Given the description of an element on the screen output the (x, y) to click on. 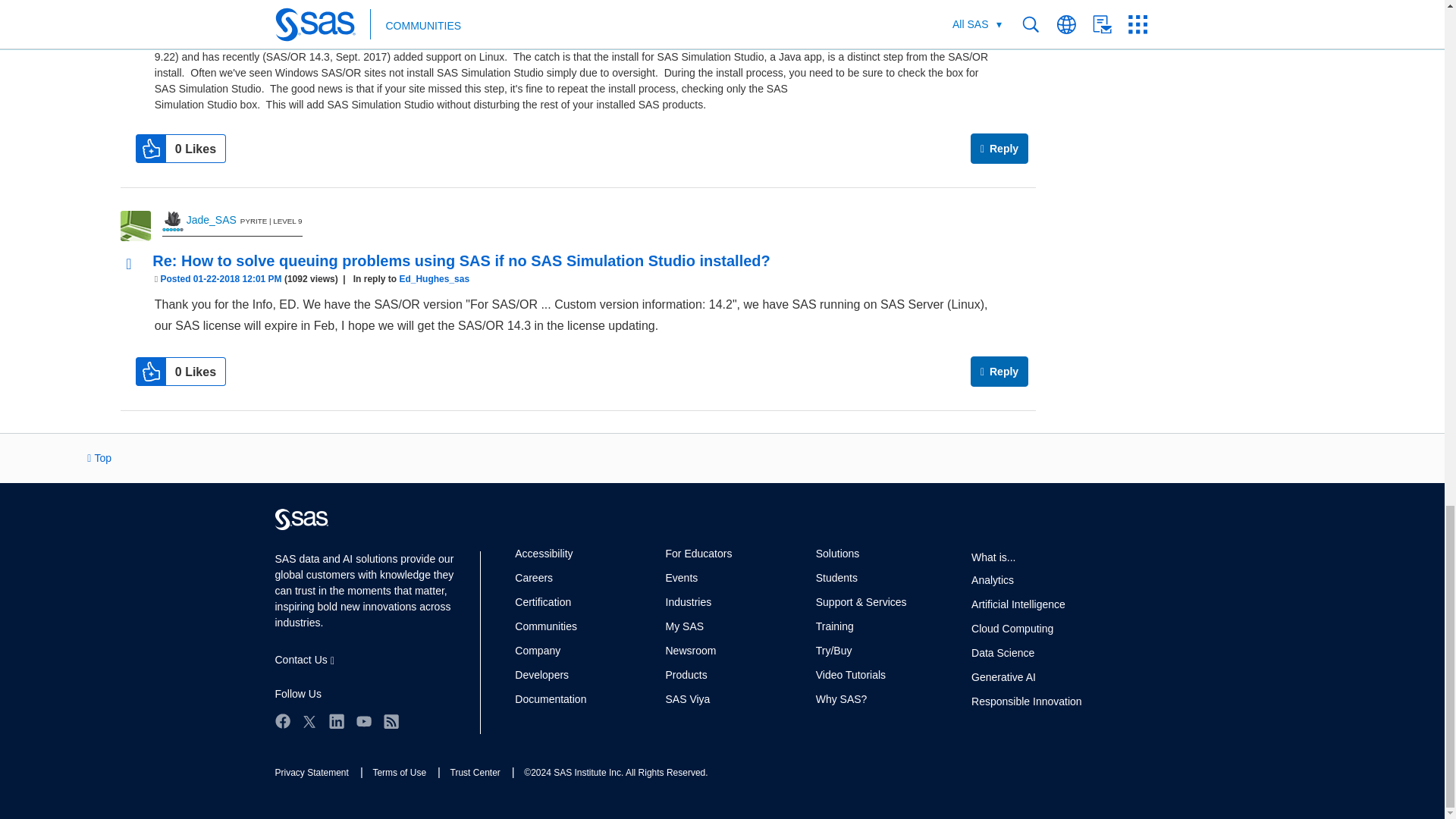
Top (98, 458)
Top (98, 458)
